Given the description of an element on the screen output the (x, y) to click on. 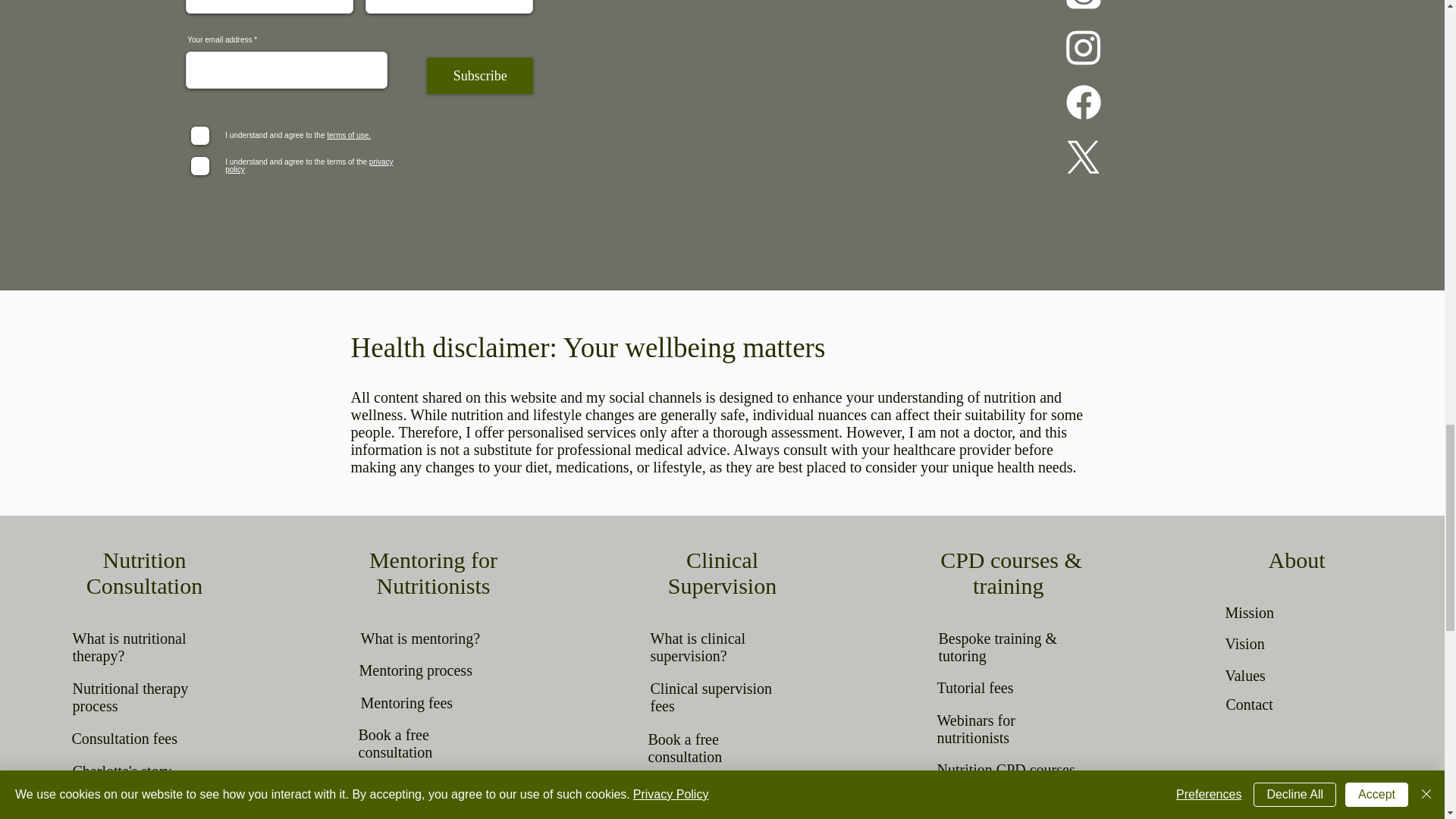
Subscribe (479, 75)
privacy policy (309, 165)
terms of use. (347, 135)
